Given the description of an element on the screen output the (x, y) to click on. 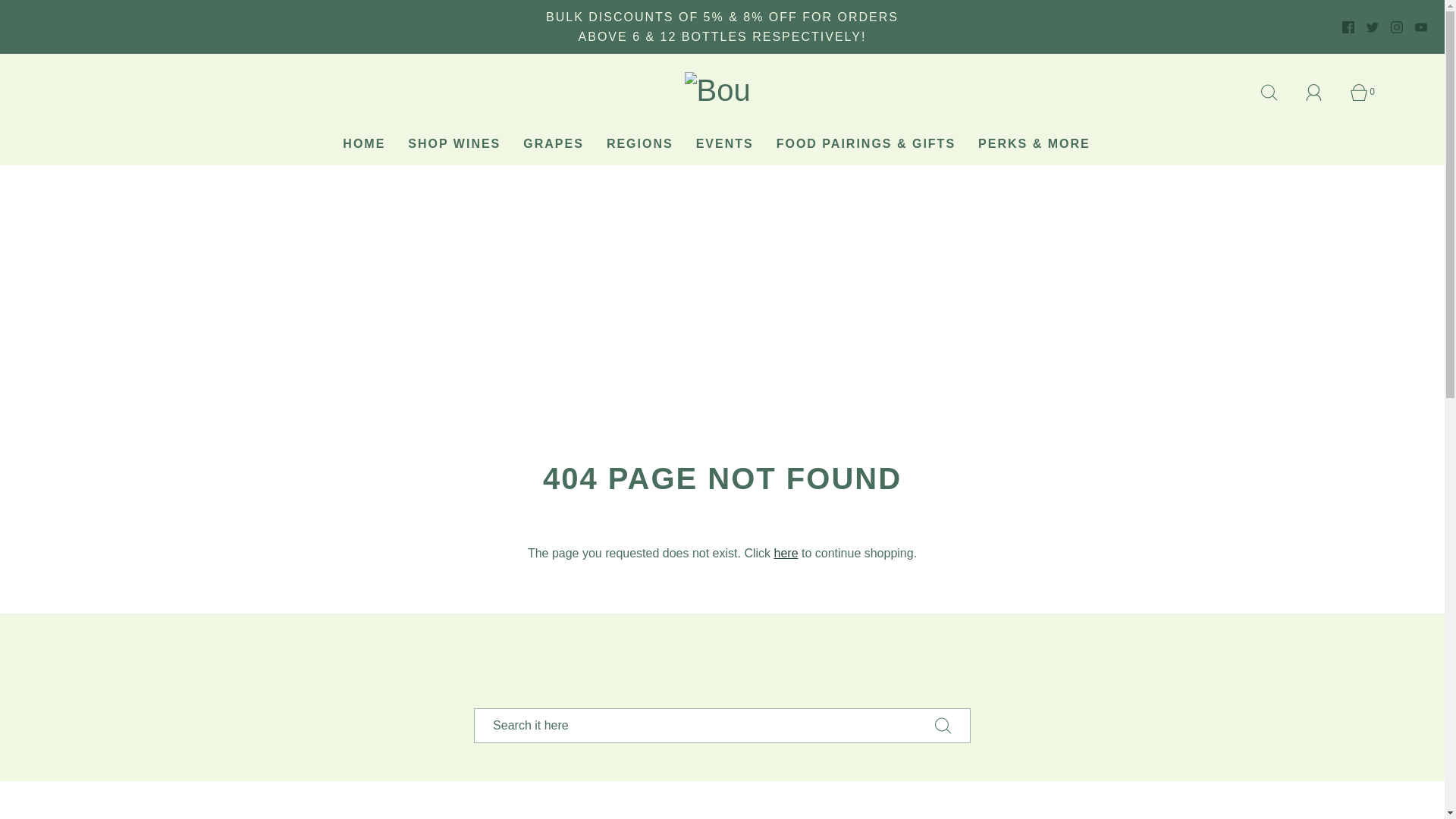
INSTAGRAM ICON (1396, 27)
FACEBOOK ICON (1348, 27)
YOUTUBE ICON (1420, 27)
SHOP WINES (453, 143)
INSTAGRAM ICON (1396, 27)
Search (1277, 92)
Log in (1322, 92)
FACEBOOK ICON (1348, 27)
HOME (363, 143)
0 (1367, 92)
